Given the description of an element on the screen output the (x, y) to click on. 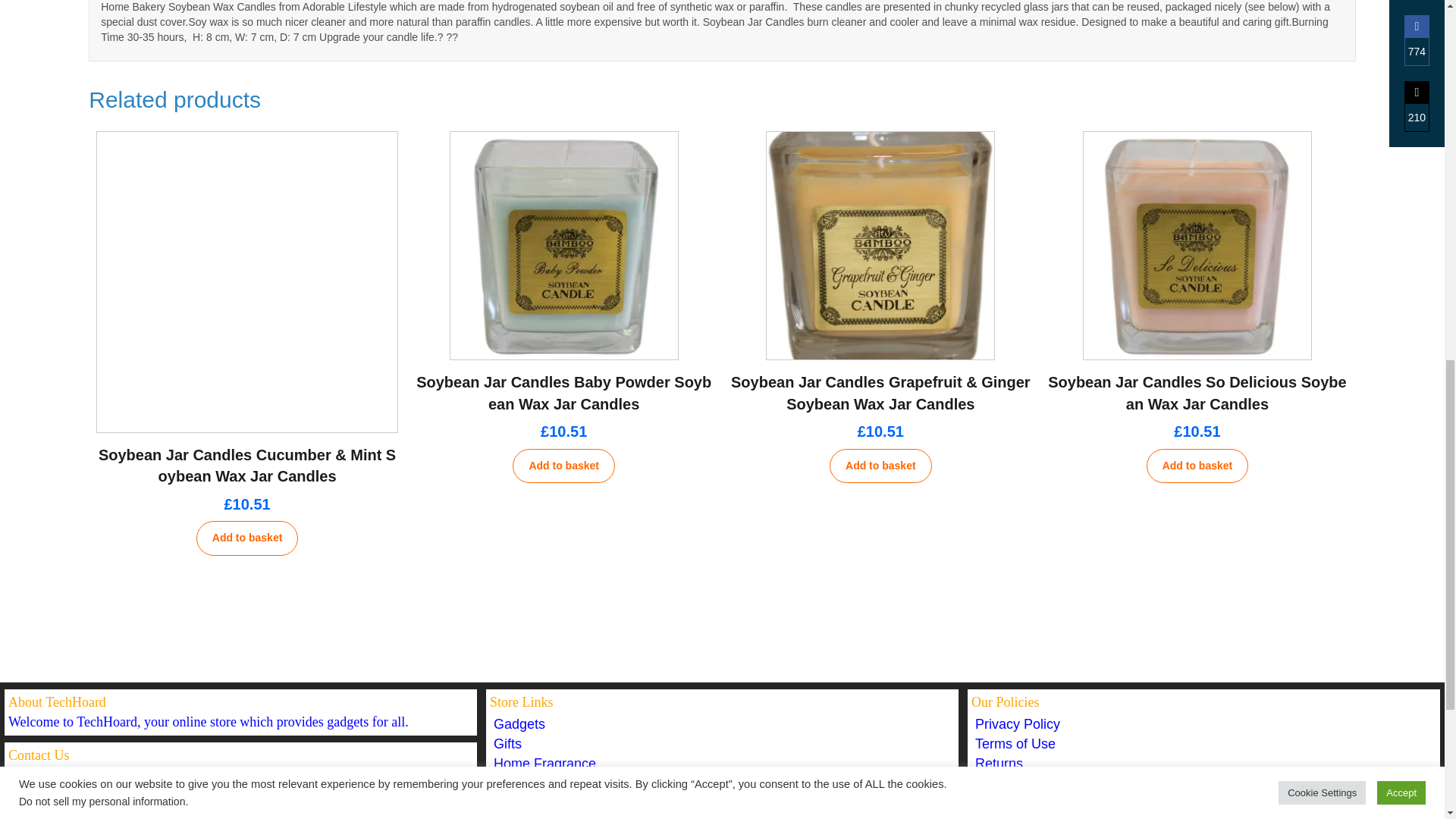
Add to basket (880, 466)
Soybean Jar Candles Baby Powder Soybean Wax Jar Candles (563, 392)
Add to basket (247, 538)
Add to basket (563, 466)
